Given the description of an element on the screen output the (x, y) to click on. 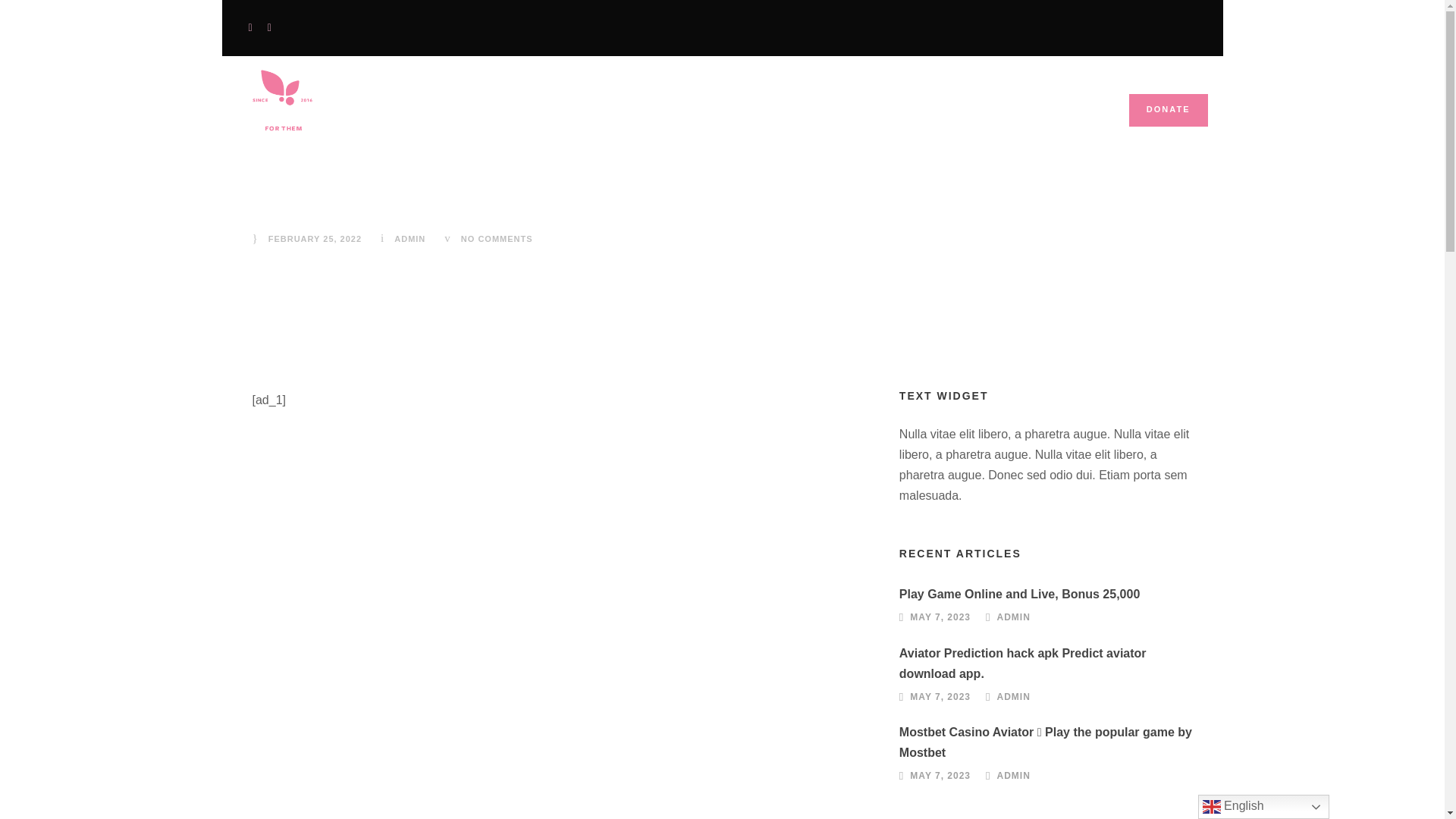
HOME (577, 118)
Aviator Prediction hack apk Predict aviator download app. (1023, 662)
ABOUT US (665, 118)
DONATE (1168, 110)
ADMIN (1013, 616)
Play Game Online and Live, Bonus 25,000 (1019, 594)
NO COMMENTS (496, 238)
BLOG (753, 118)
CONTACT (836, 118)
